Given the description of an element on the screen output the (x, y) to click on. 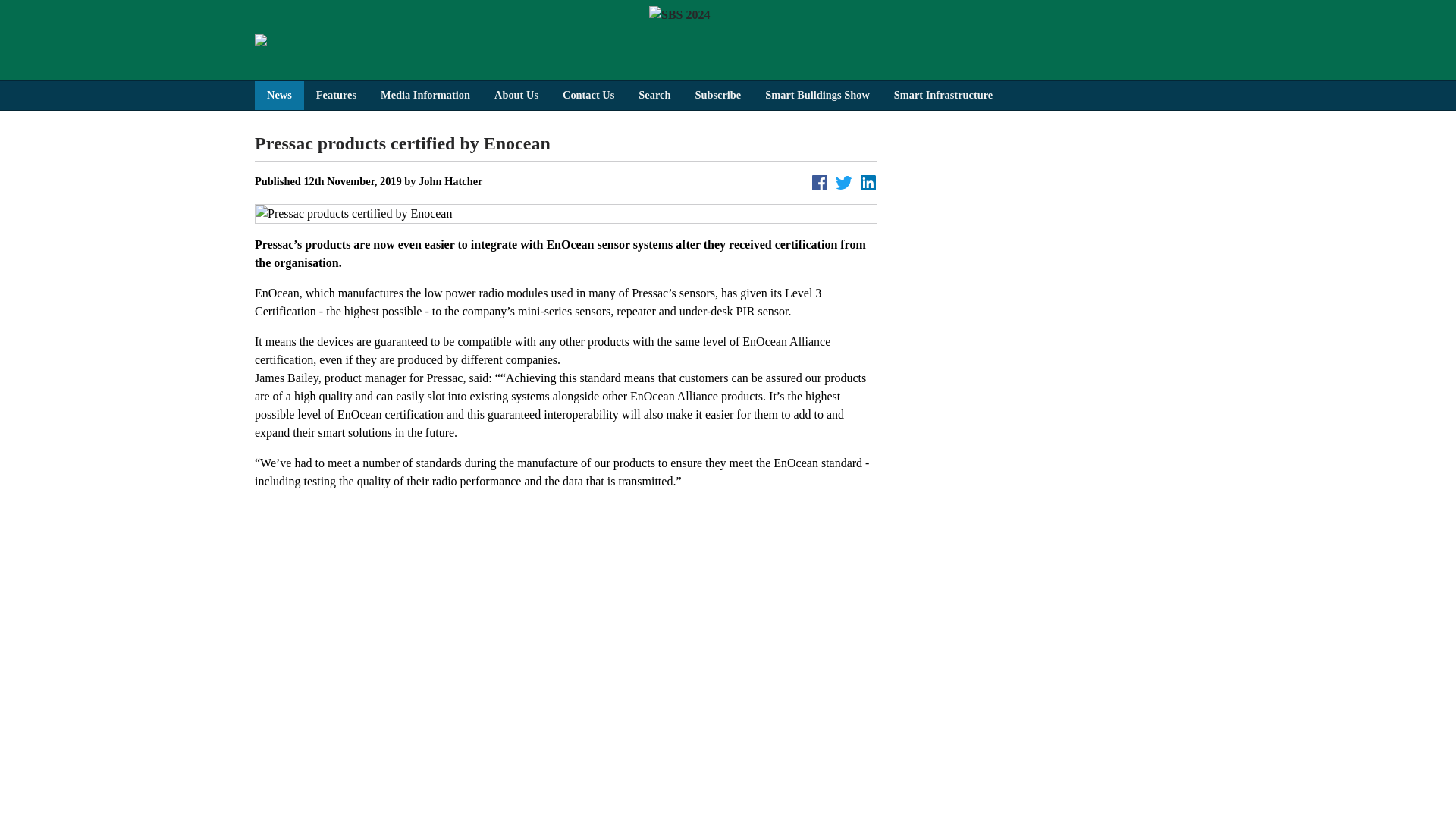
News (279, 95)
Search (654, 95)
Smart Buildings Show 2022 Highlights (1051, 203)
Share on Facebook (819, 182)
Media Information (424, 95)
Subscribe (717, 95)
Smart Buildings Show (817, 95)
Contact Us (588, 95)
Features (336, 95)
Share on LinkedIn (868, 182)
